Given the description of an element on the screen output the (x, y) to click on. 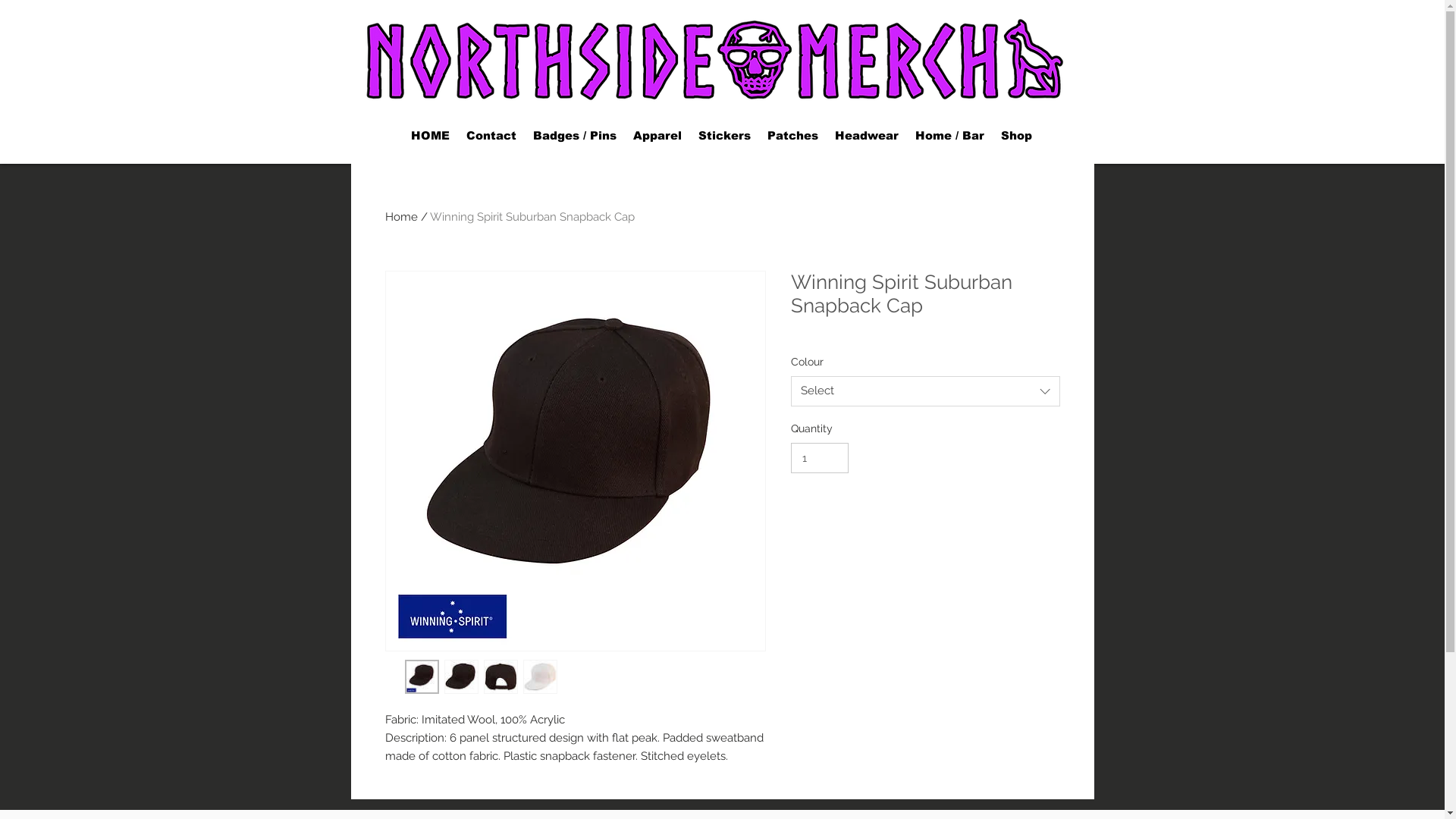
Badges / Pins Element type: text (574, 135)
Apparel Element type: text (657, 135)
Winning Spirit Suburban Snapback Cap Element type: text (531, 216)
HOME Element type: text (429, 135)
Home / Bar Element type: text (949, 135)
Shop Element type: text (1015, 135)
Patches Element type: text (791, 135)
Contact Element type: text (491, 135)
Headwear Element type: text (866, 135)
Select Element type: text (924, 391)
Stickers Element type: text (724, 135)
Home Element type: text (401, 216)
